Given the description of an element on the screen output the (x, y) to click on. 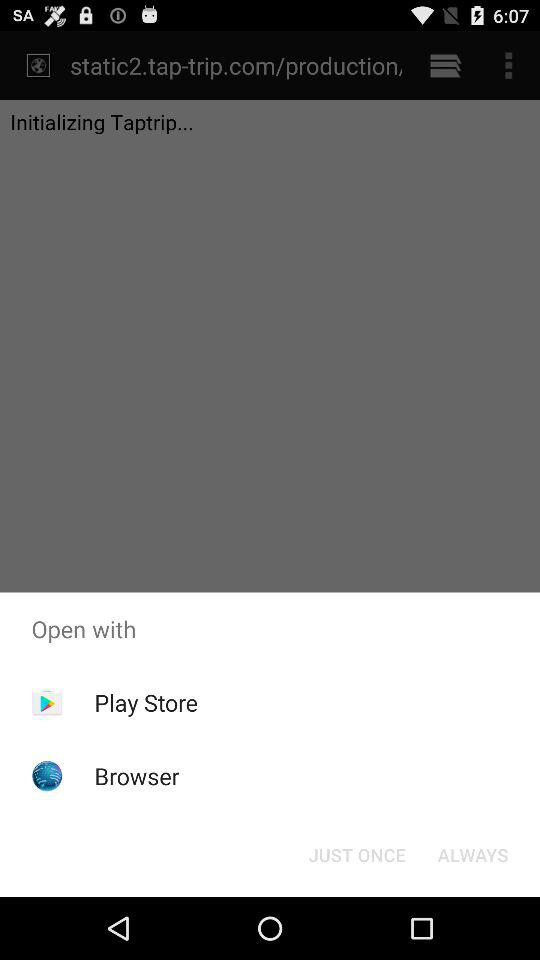
choose item below the play store (136, 775)
